Given the description of an element on the screen output the (x, y) to click on. 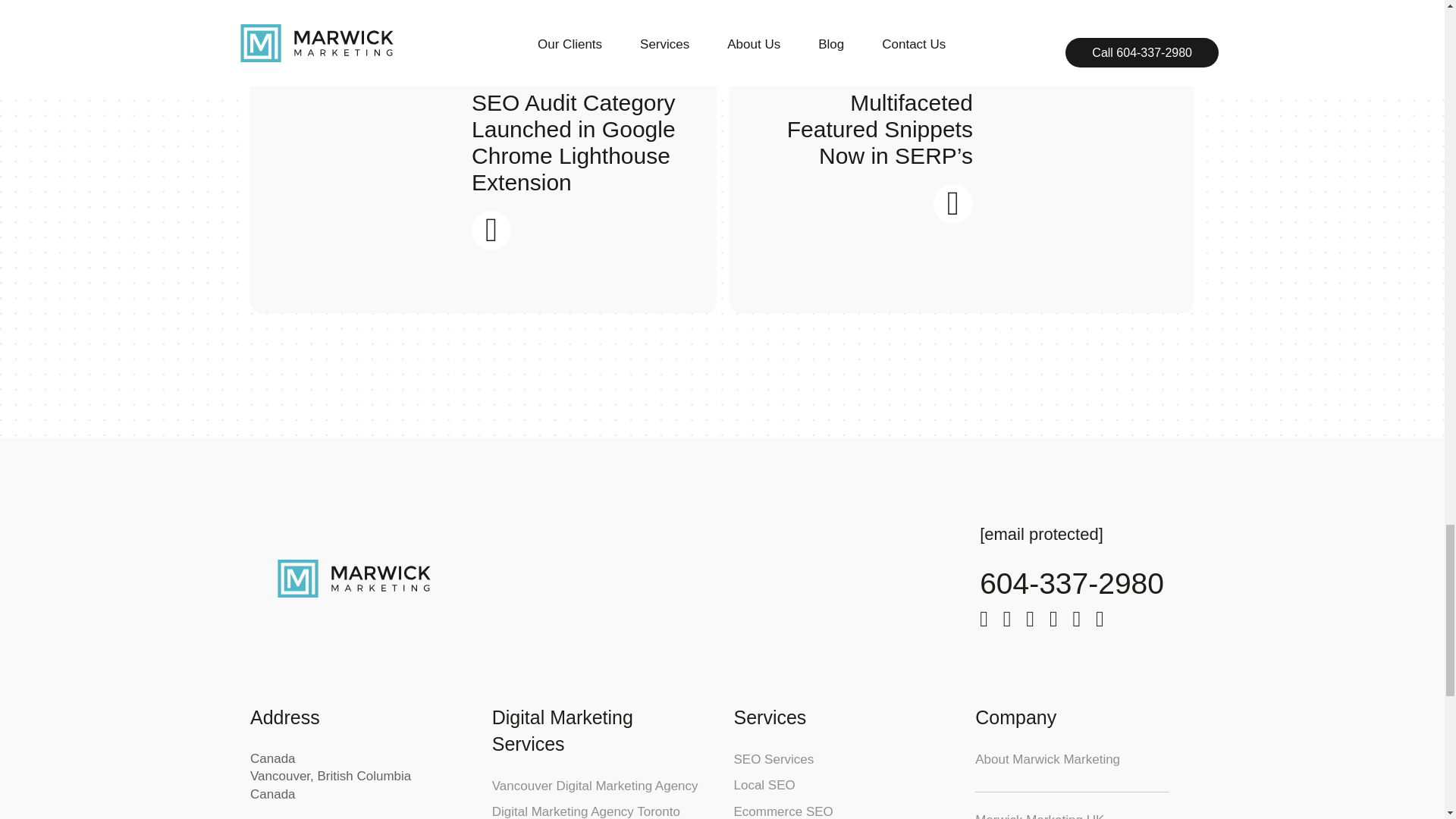
Previous Project (491, 230)
Call Us (1071, 583)
604-337-2980 (1071, 583)
Previous Project (952, 203)
